Given the description of an element on the screen output the (x, y) to click on. 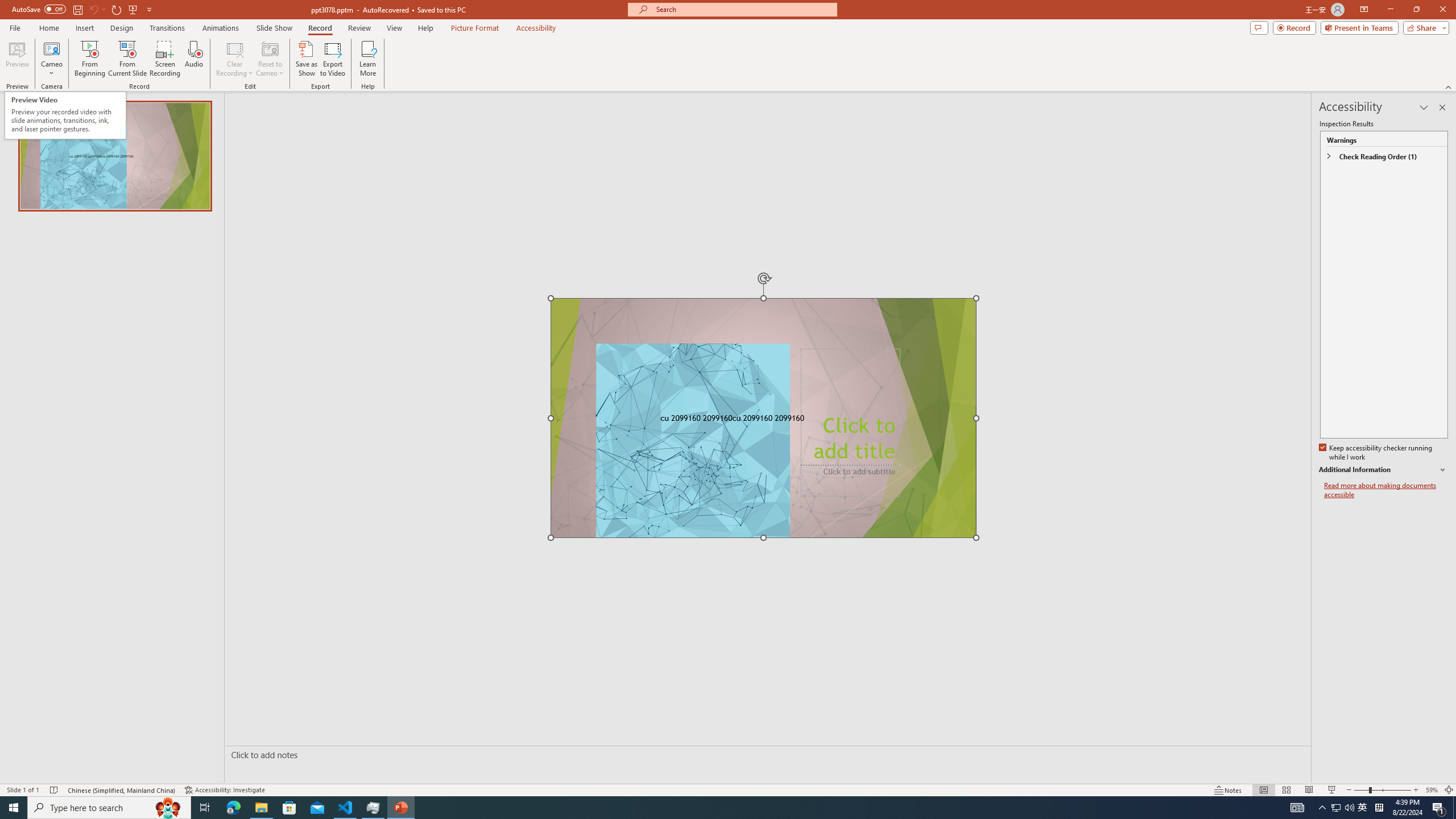
Zoom 59% (1431, 790)
Screen Recording (165, 58)
Read more about making documents accessible (1385, 489)
